Given the description of an element on the screen output the (x, y) to click on. 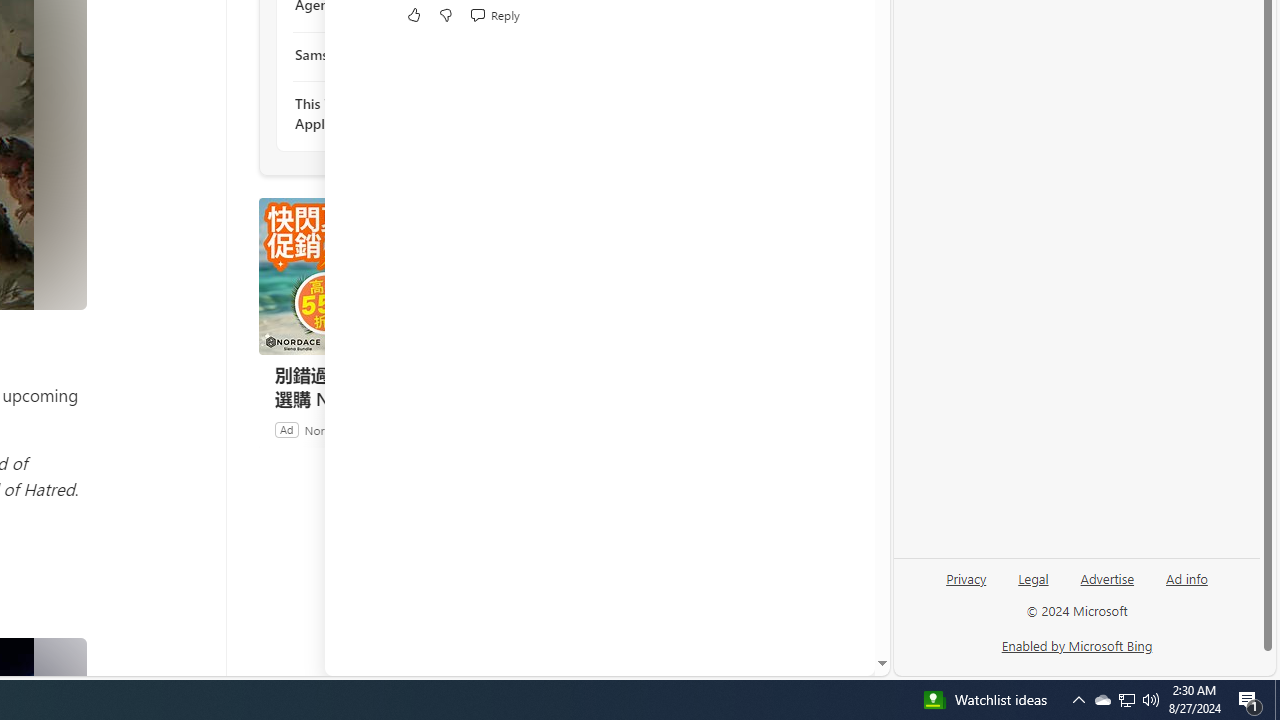
Ad info (1186, 586)
Ad info (1187, 577)
